Given the description of an element on the screen output the (x, y) to click on. 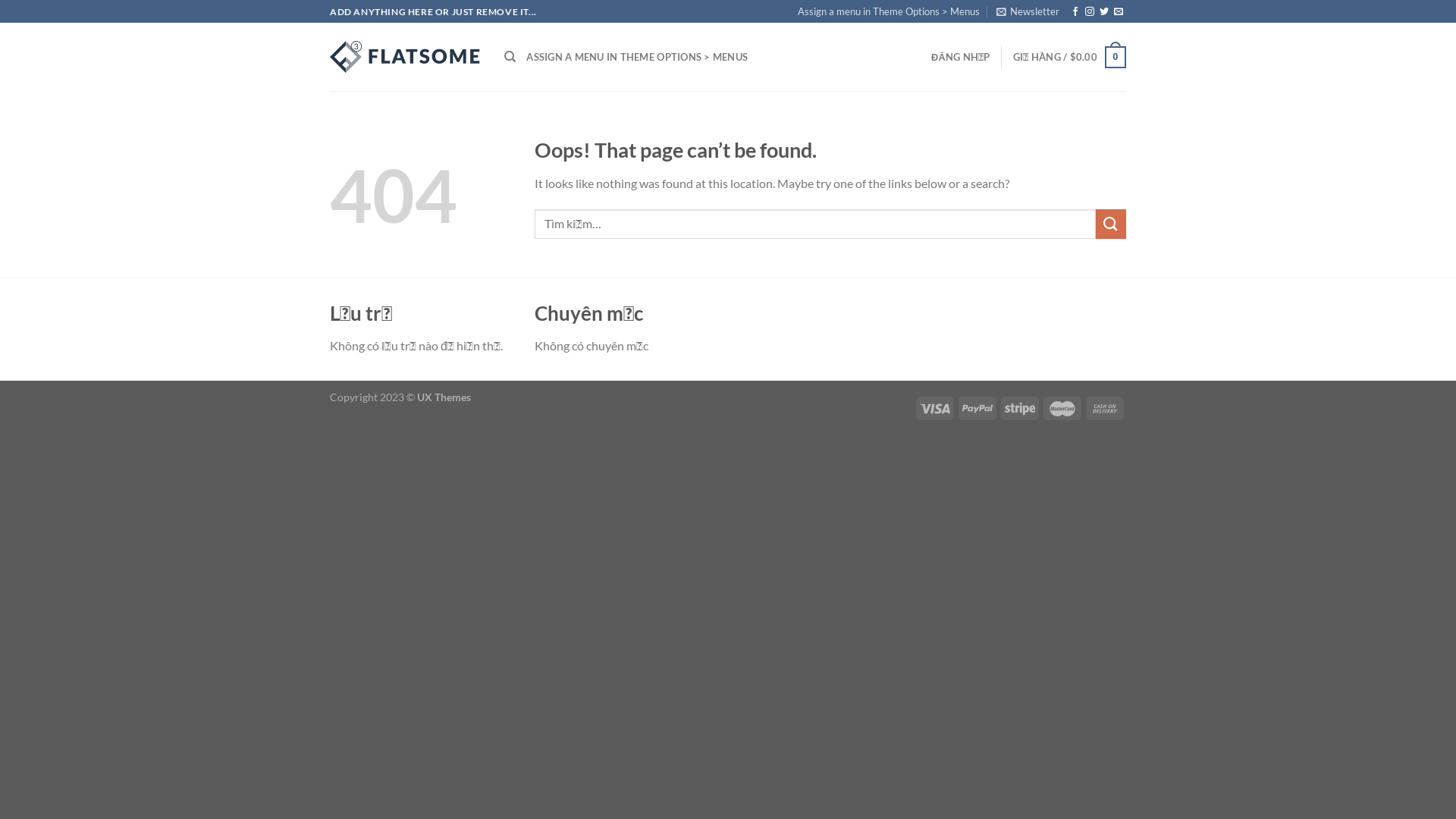
Assign a menu in Theme Options > Menus Element type: text (888, 11)
Newsletter Element type: text (1027, 11)
ASSIGN A MENU IN THEME OPTIONS > MENUS Element type: text (636, 56)
